Given the description of an element on the screen output the (x, y) to click on. 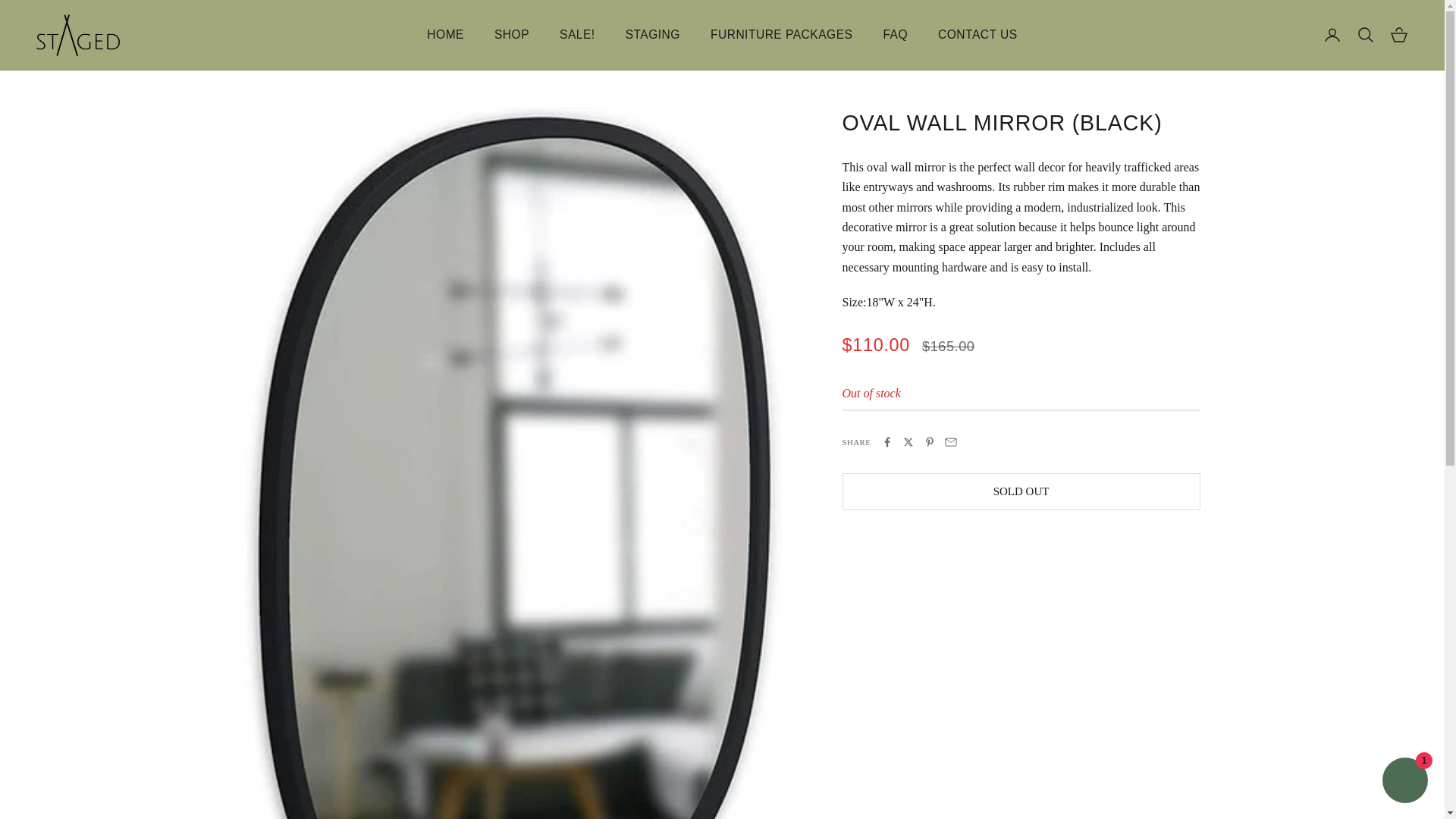
FURNITURE PACKAGES (781, 35)
STAGING (652, 35)
Shopify online store chat (1404, 781)
Open cart (1398, 34)
SALE! (577, 35)
SHOP (512, 35)
Open search (1365, 34)
FAQ (894, 35)
SOLD OUT (1020, 491)
Open account page (1331, 34)
Staged Cayman (77, 35)
HOME (445, 35)
CONTACT US (977, 35)
